Given the description of an element on the screen output the (x, y) to click on. 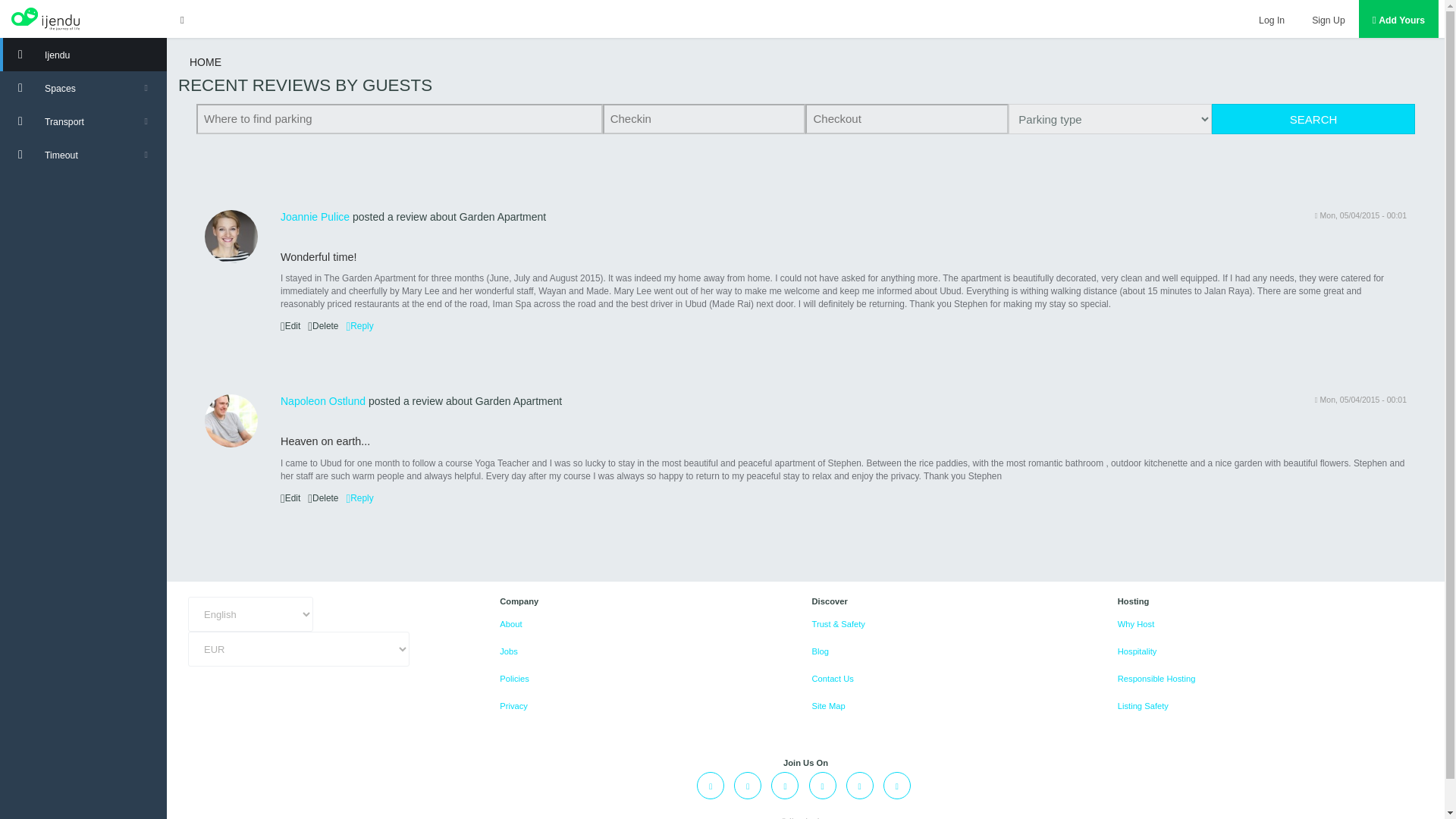
Jobs (508, 651)
View user profile. (323, 400)
search (1313, 119)
Transport (83, 121)
View user profile. (315, 216)
Edit (290, 498)
Policies (514, 678)
search (1313, 119)
Add Yours (1398, 18)
About (510, 623)
View user profile. (231, 235)
Joannie Pulice (315, 216)
Save (21, 12)
Ijendu (83, 54)
Reply (359, 498)
